Given the description of an element on the screen output the (x, y) to click on. 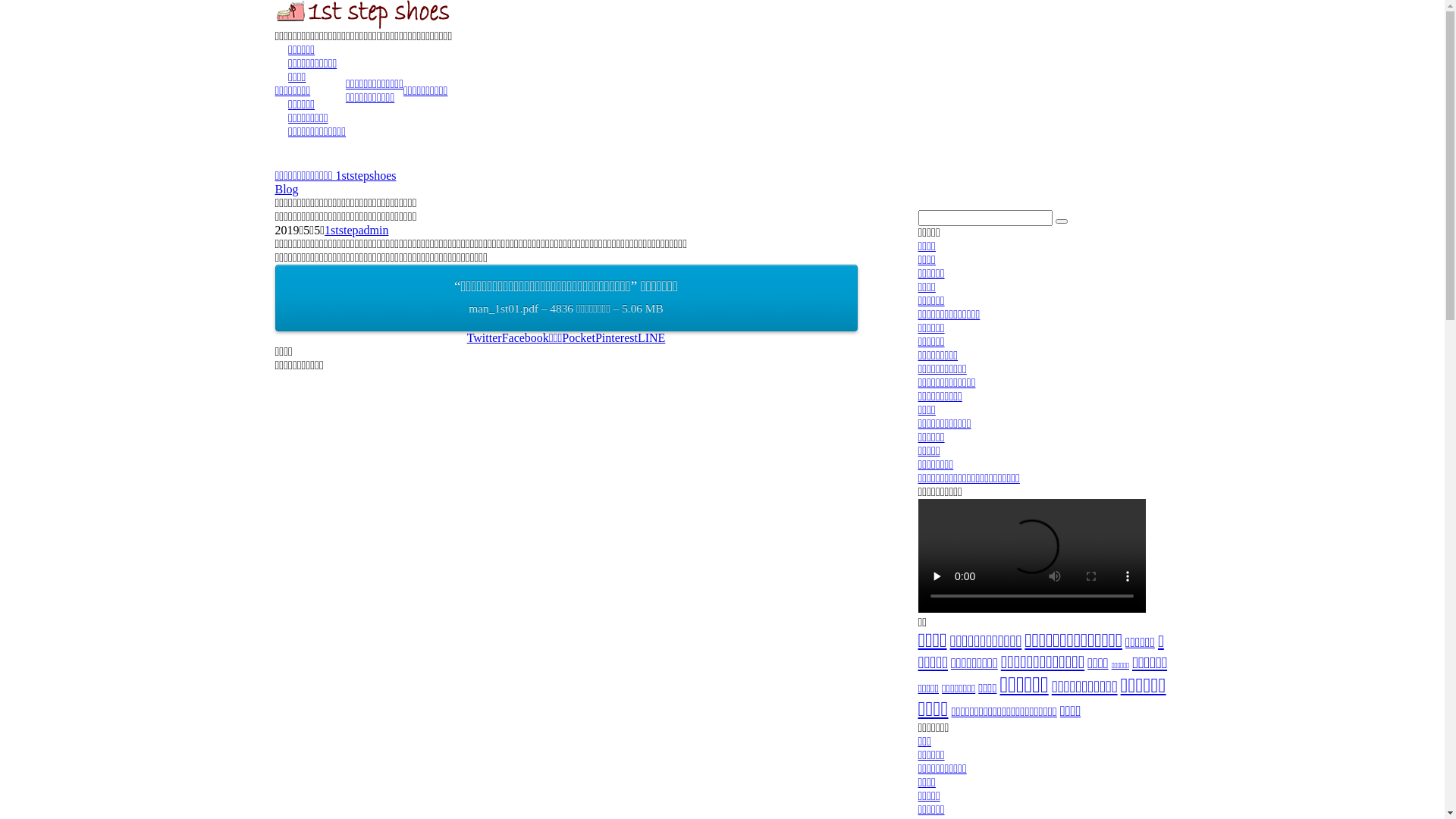
1ststepadmin Element type: text (356, 229)
Pinterest Element type: text (616, 337)
LINE Element type: text (651, 337)
Twitter Element type: text (484, 337)
Facebook Element type: text (525, 337)
Pocket Element type: text (578, 337)
Blog Element type: text (286, 188)
